Given the description of an element on the screen output the (x, y) to click on. 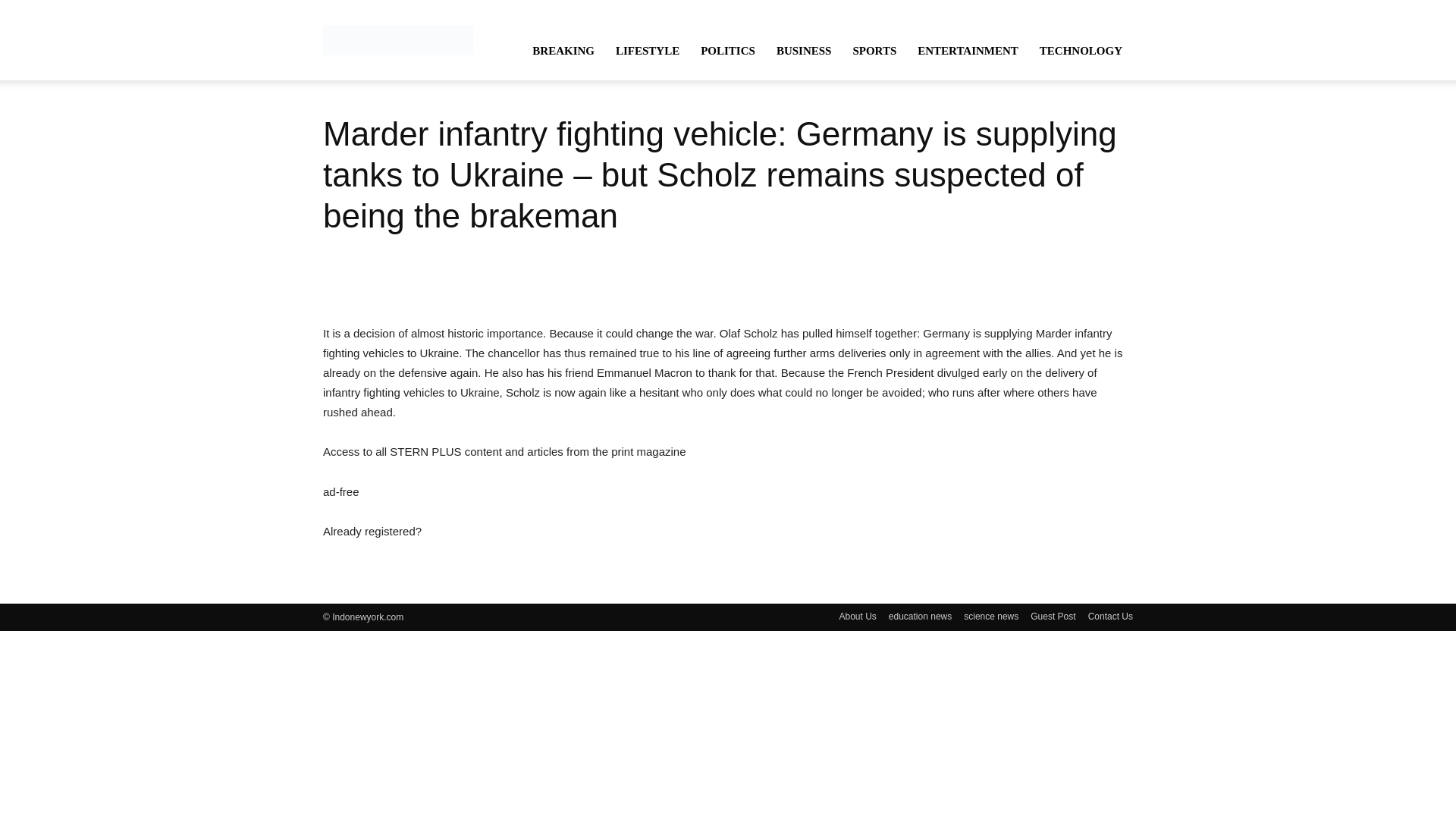
science news (990, 616)
POLITICS (727, 50)
TECHNOLOGY (1080, 50)
LIFESTYLE (647, 50)
ENTERTAINMENT (968, 50)
SPORTS (874, 50)
Guest Post (1052, 616)
BUSINESS (804, 50)
Indo Newyork (398, 39)
About Us (857, 616)
